Given the description of an element on the screen output the (x, y) to click on. 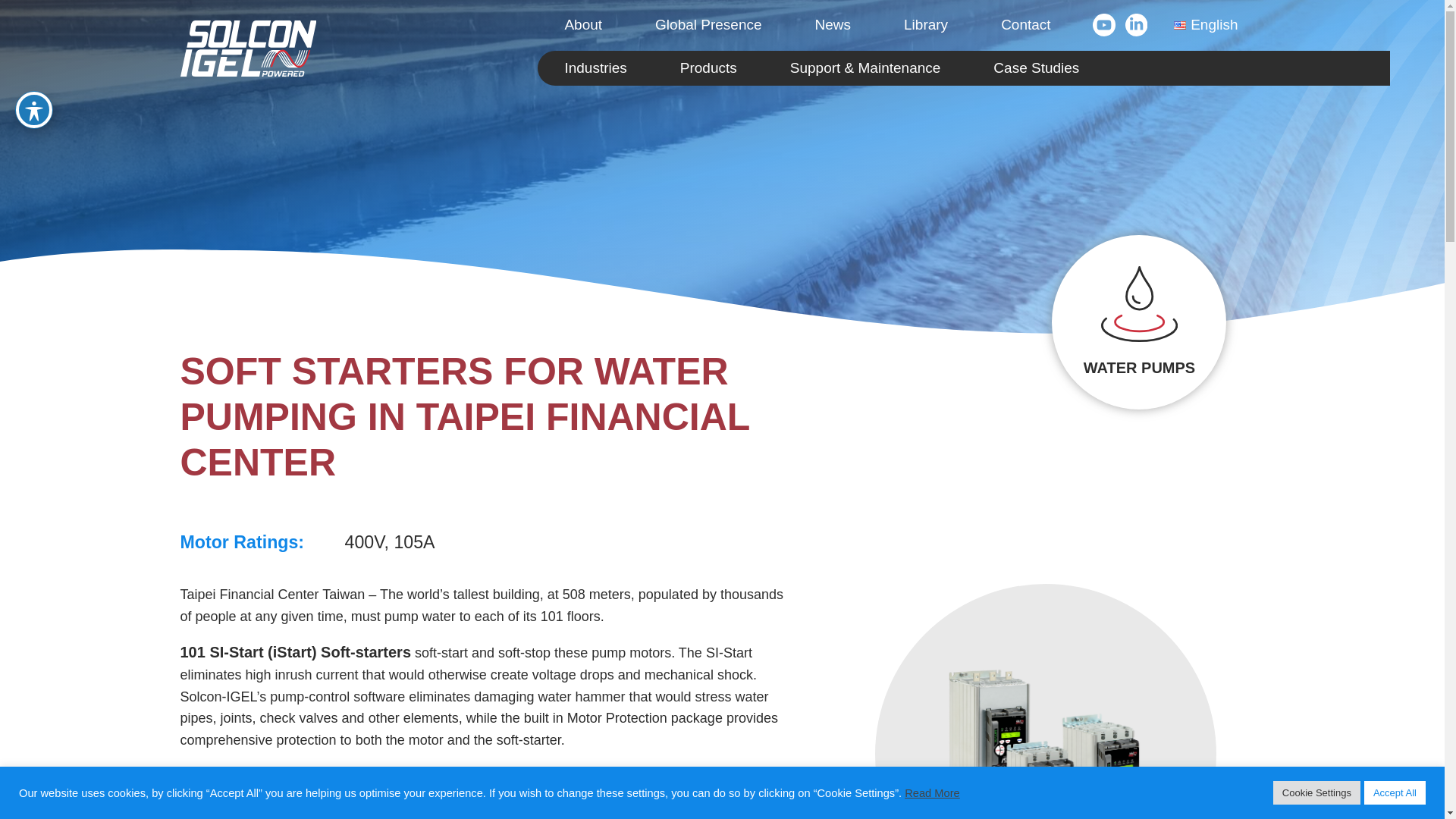
Industries (594, 68)
ldin (1136, 21)
Library (925, 25)
Contact (1025, 25)
English (1205, 25)
Global Presence (707, 25)
Products (707, 68)
News (833, 25)
ytlink (1109, 21)
About (582, 25)
